Given the description of an element on the screen output the (x, y) to click on. 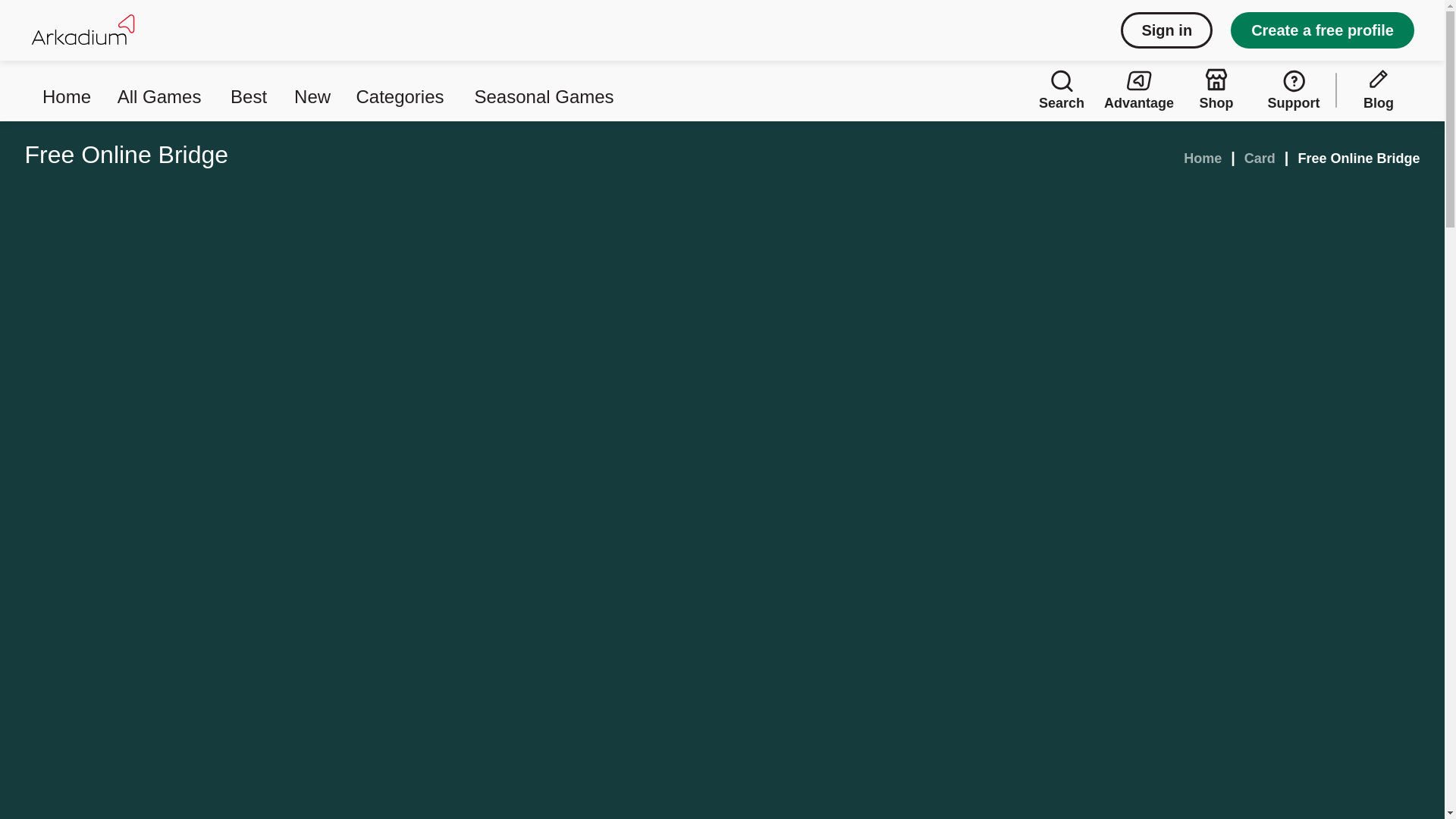
Home (1202, 158)
Home (67, 89)
Create a free profile (1321, 30)
Sign in (1166, 30)
Advantage (1138, 89)
New (312, 89)
Go to Home (1202, 158)
Categories (402, 89)
Blog (1377, 89)
Best (250, 89)
Seasonal Games (544, 89)
Card (1259, 158)
Support (1293, 89)
Search (1061, 89)
Shop (1216, 89)
